Given the description of an element on the screen output the (x, y) to click on. 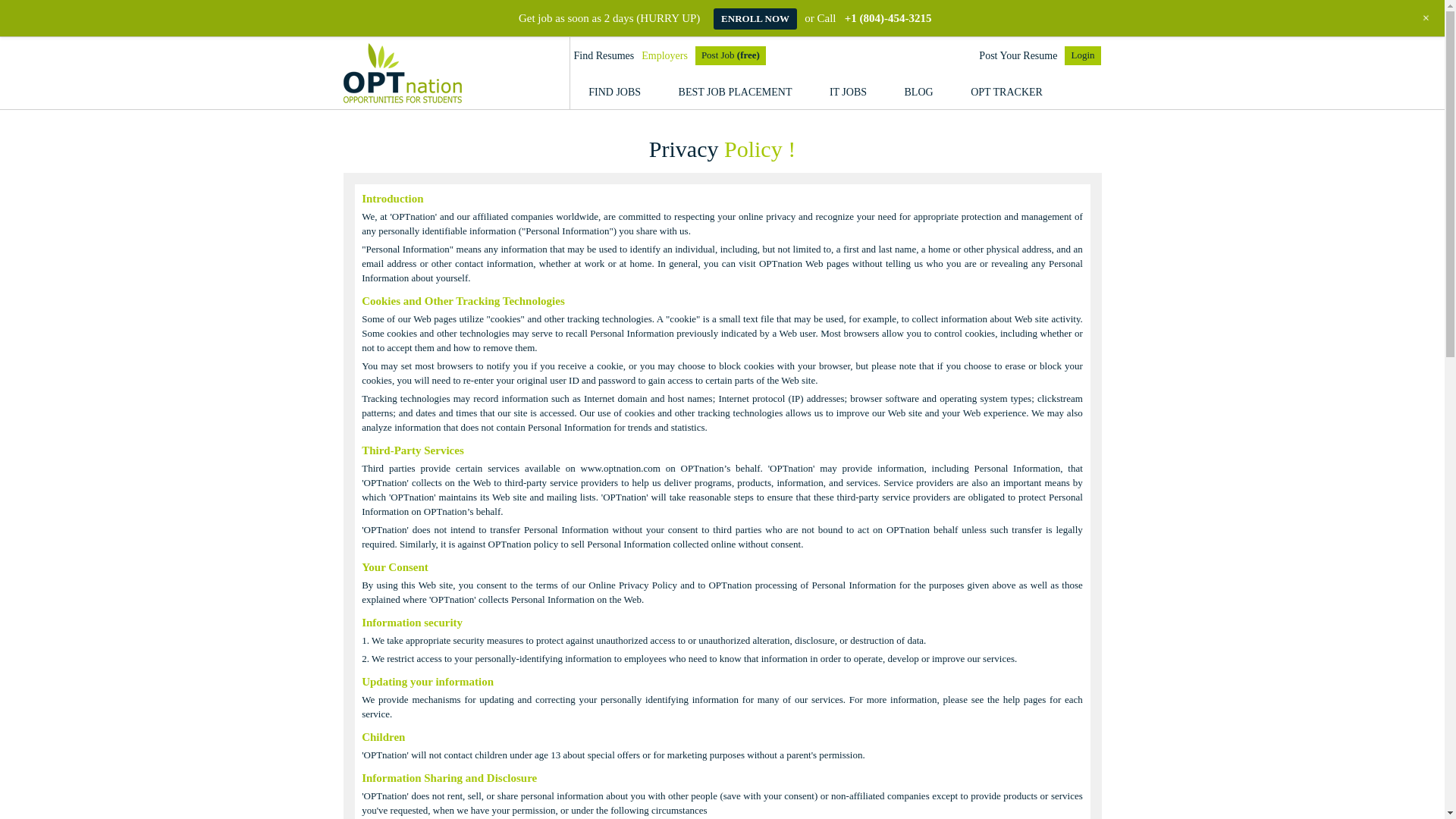
IT JOBS (847, 91)
Post Your Resume (1018, 55)
OPT TRACKER (1006, 91)
BEST JOB PLACEMENT (734, 91)
Find Resumes (604, 55)
Login (1082, 55)
ENROLL NOW (754, 18)
BLOG (918, 91)
FIND JOBS (614, 91)
Employers (664, 55)
